Given the description of an element on the screen output the (x, y) to click on. 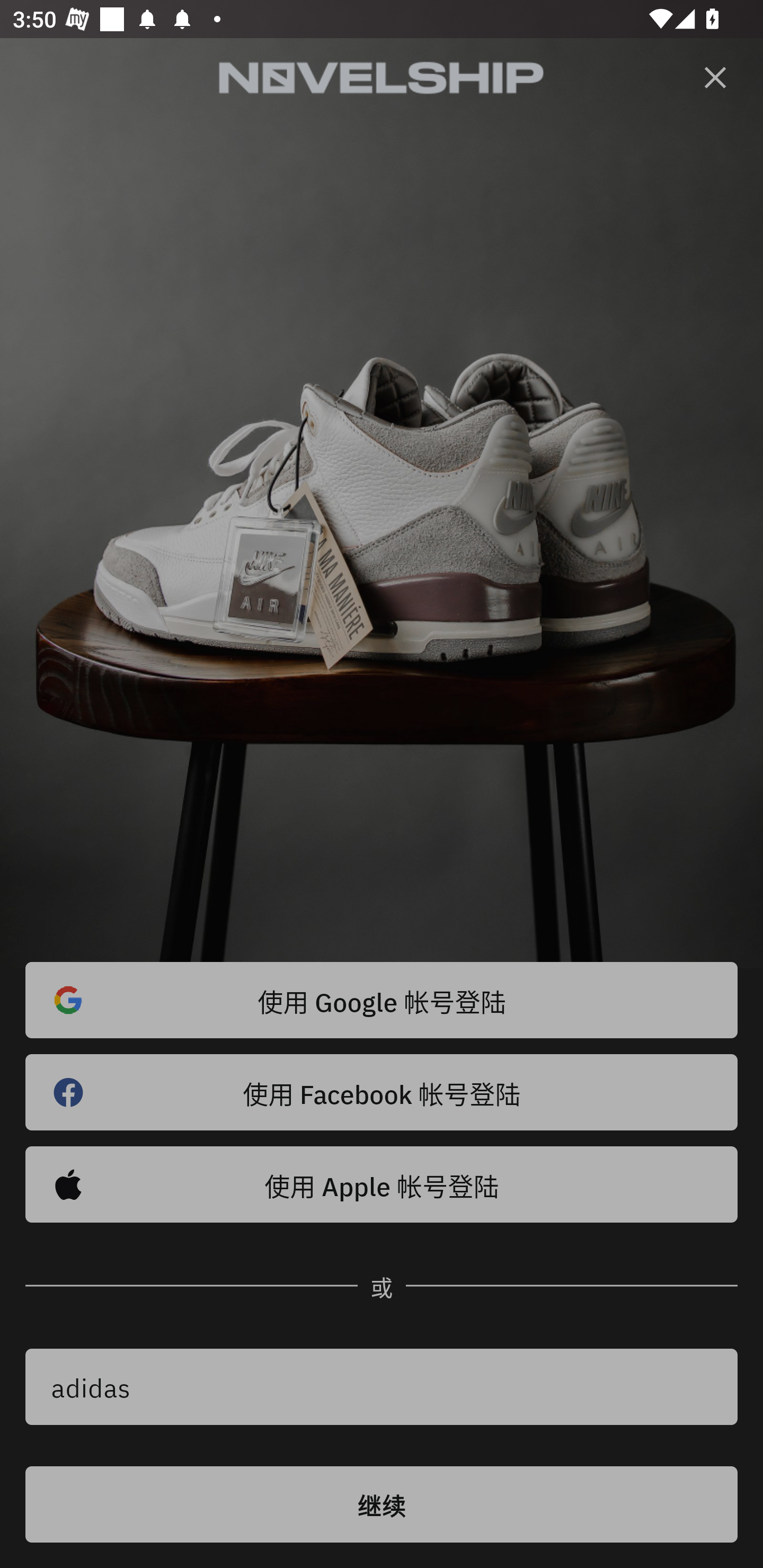
使用 Google 帐号登陆 (381, 1000)
使用 Facebook 帐号登陆 󰈌 (381, 1091)
 使用 Apple 帐号登陆 (381, 1184)
adidas (381, 1386)
继续 (381, 1504)
